Given the description of an element on the screen output the (x, y) to click on. 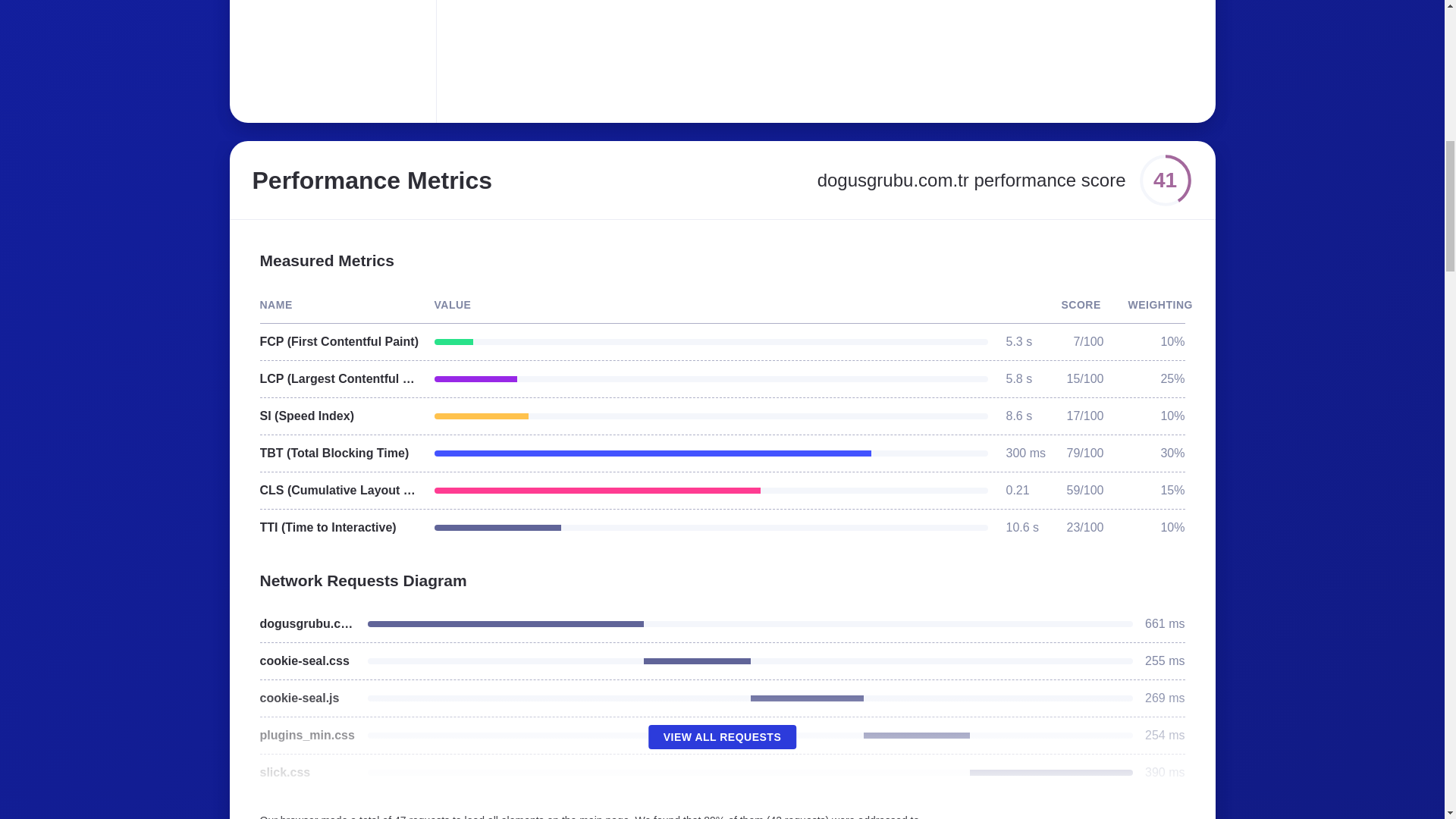
VIEW ALL REQUESTS (721, 736)
